Given the description of an element on the screen output the (x, y) to click on. 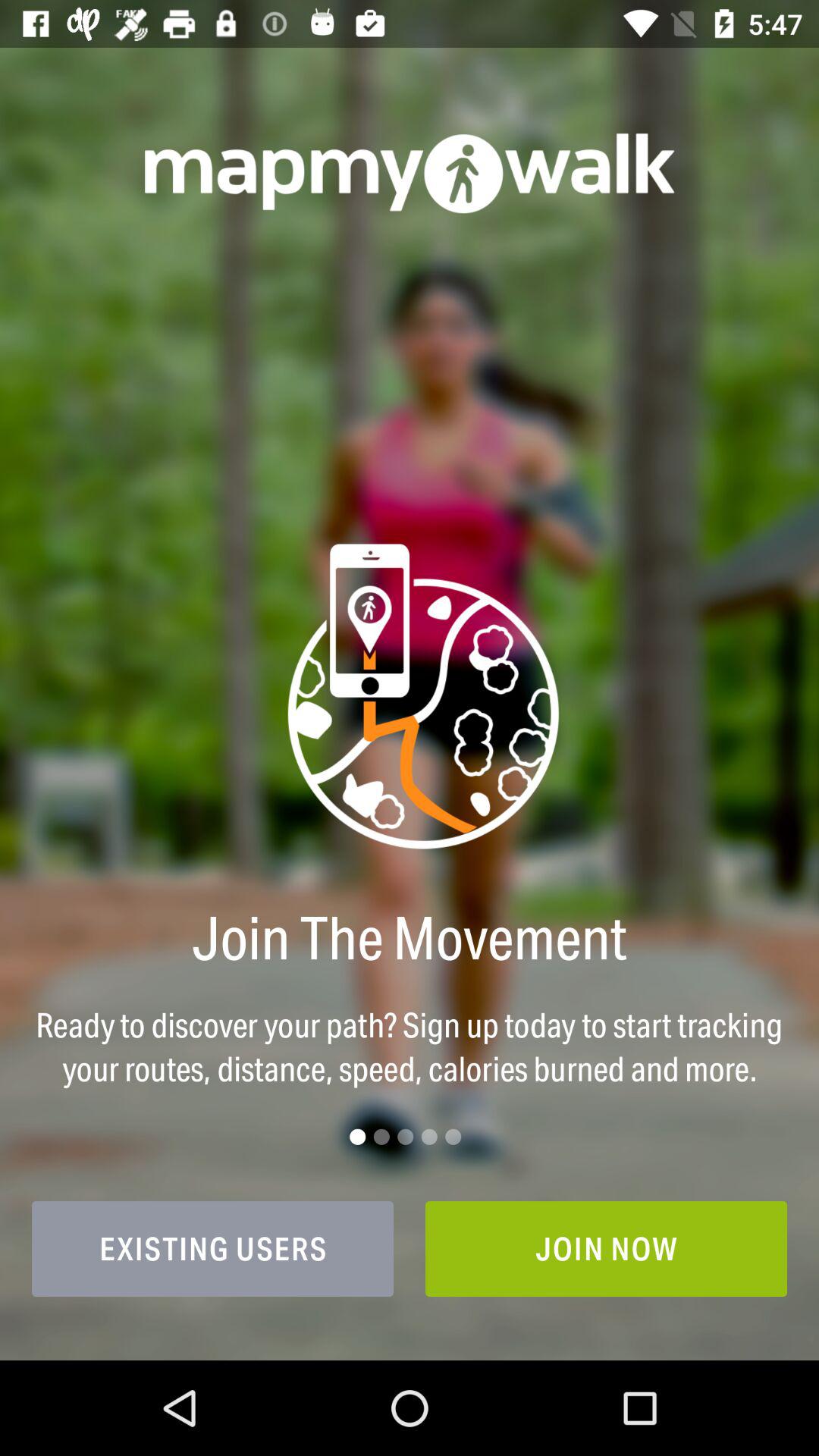
launch join now item (606, 1248)
